Given the description of an element on the screen output the (x, y) to click on. 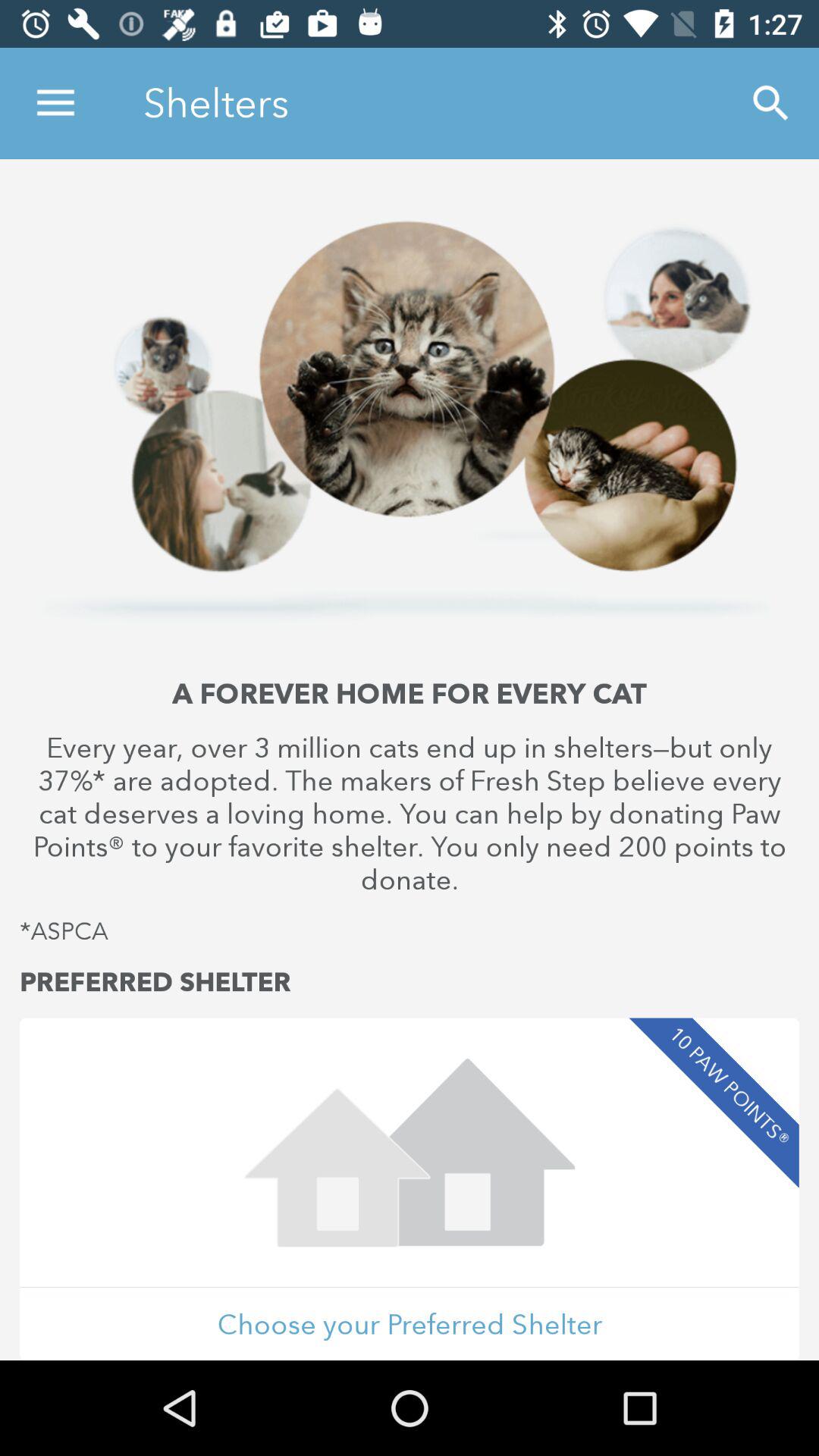
tap icon to the right of the shelters icon (771, 103)
